Given the description of an element on the screen output the (x, y) to click on. 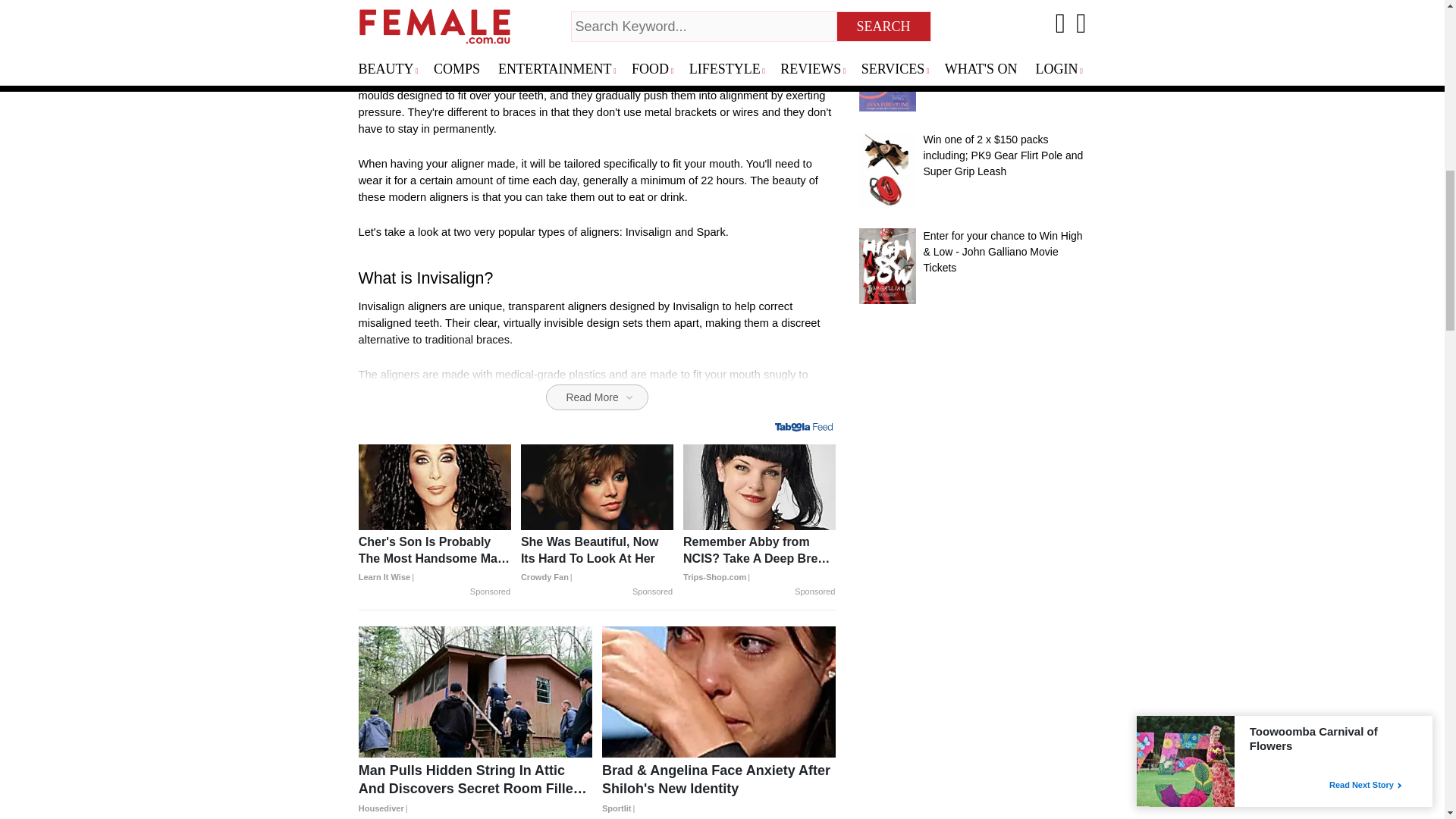
She Was Beautiful, Now Its Hard To Look At Her (596, 559)
Cher's Son Is Probably The Most Handsome Man To Ever Exist (434, 559)
